Given the description of an element on the screen output the (x, y) to click on. 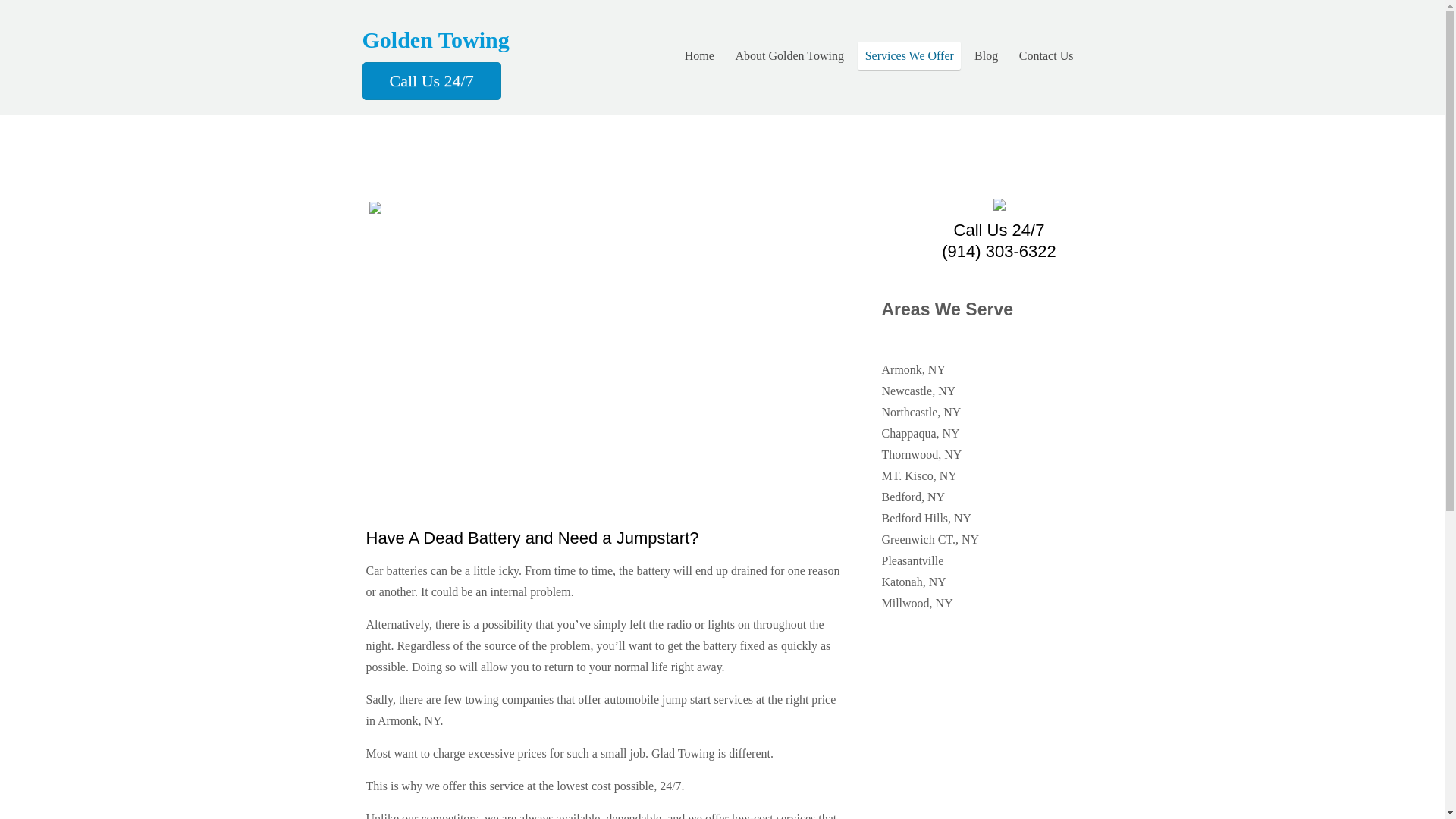
Blog (985, 55)
About Golden Towing (789, 55)
Home (698, 55)
Golden Towing (435, 39)
Armonk, New York Towing Service (435, 39)
Services We Offer (908, 55)
Contact Us (1045, 55)
